Given the description of an element on the screen output the (x, y) to click on. 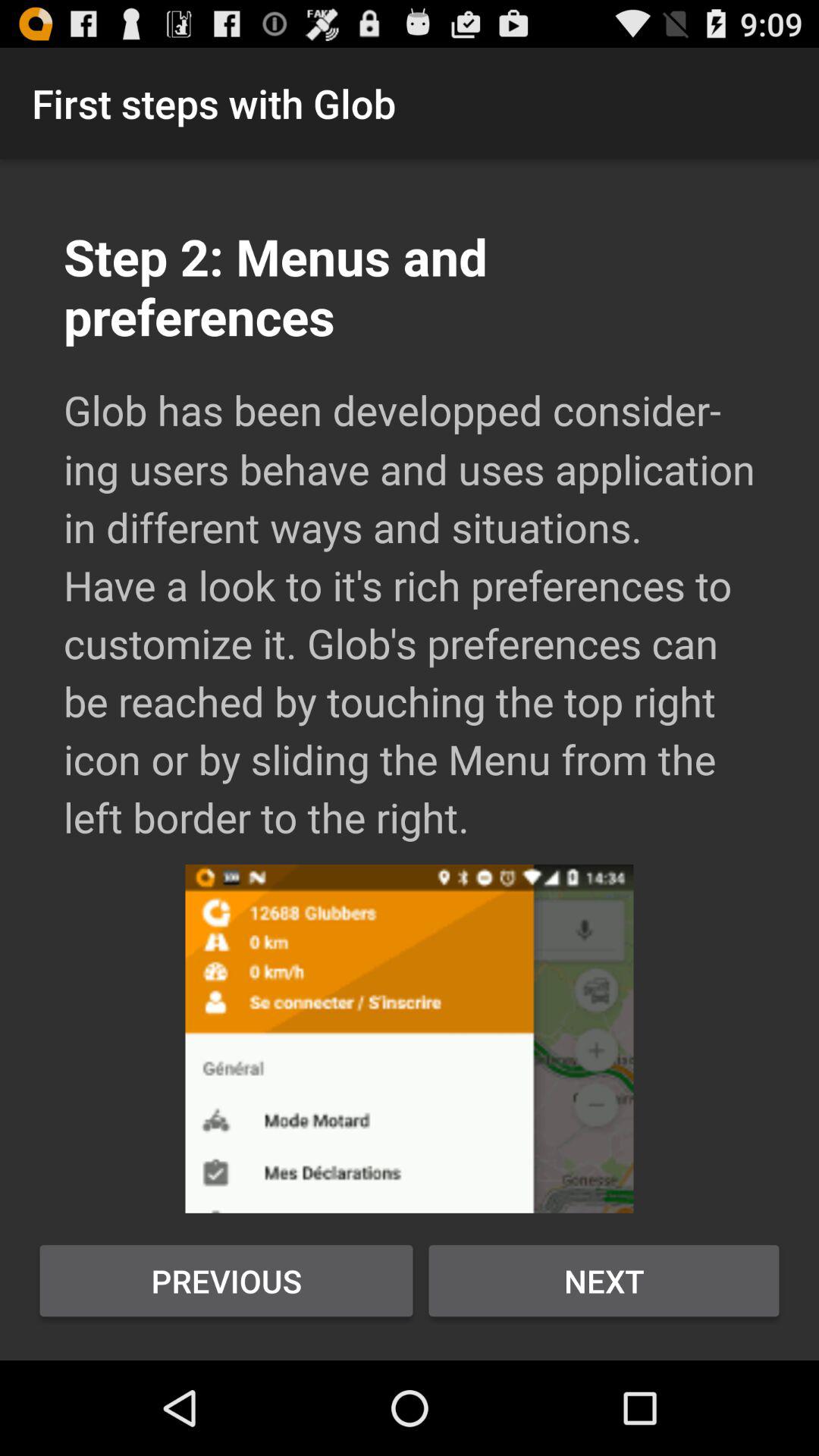
tap the item at the bottom right corner (603, 1280)
